Given the description of an element on the screen output the (x, y) to click on. 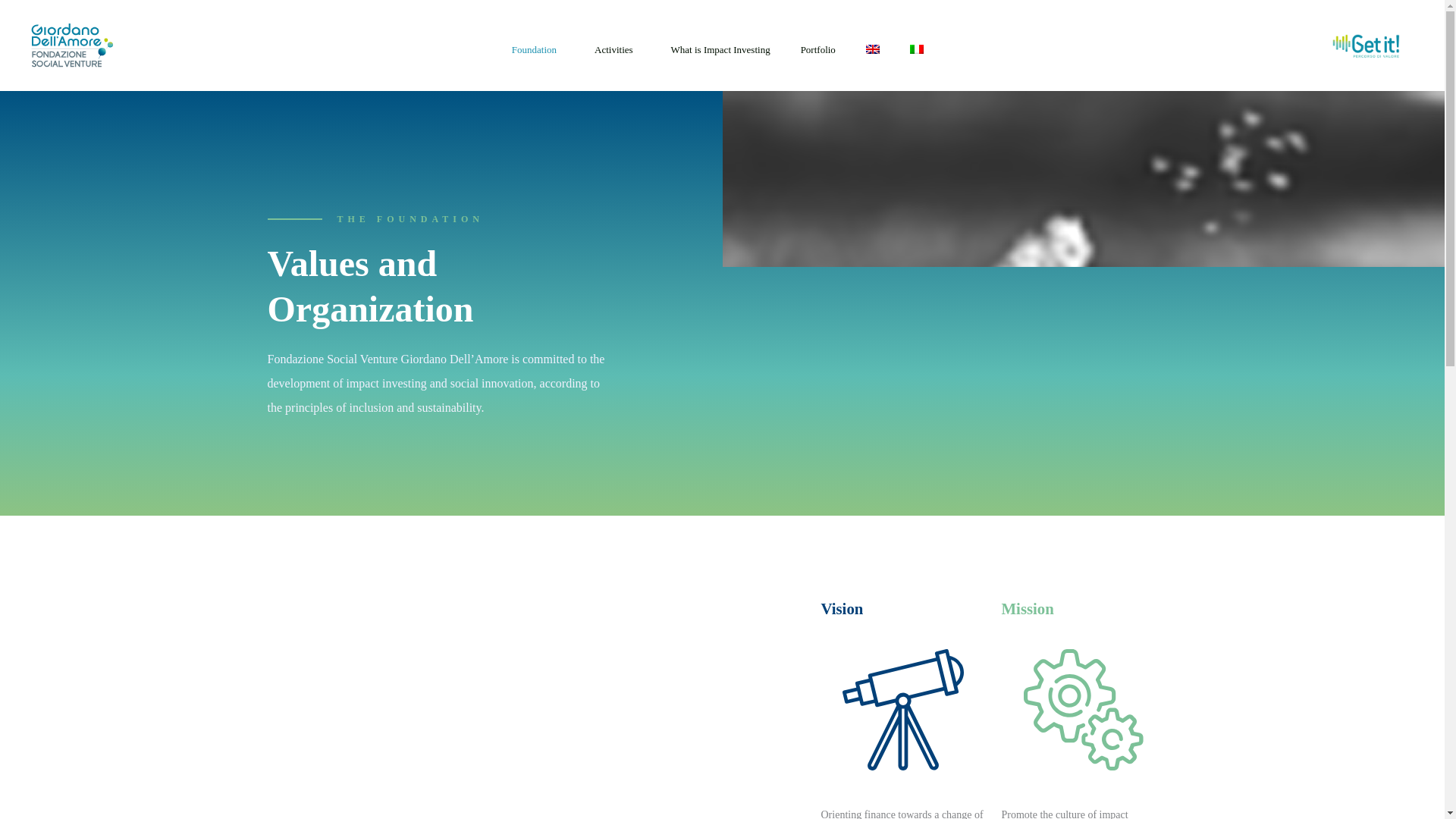
Foundation (538, 49)
Portfolio (817, 49)
What is Impact Investing (720, 49)
Activities (617, 49)
